Given the description of an element on the screen output the (x, y) to click on. 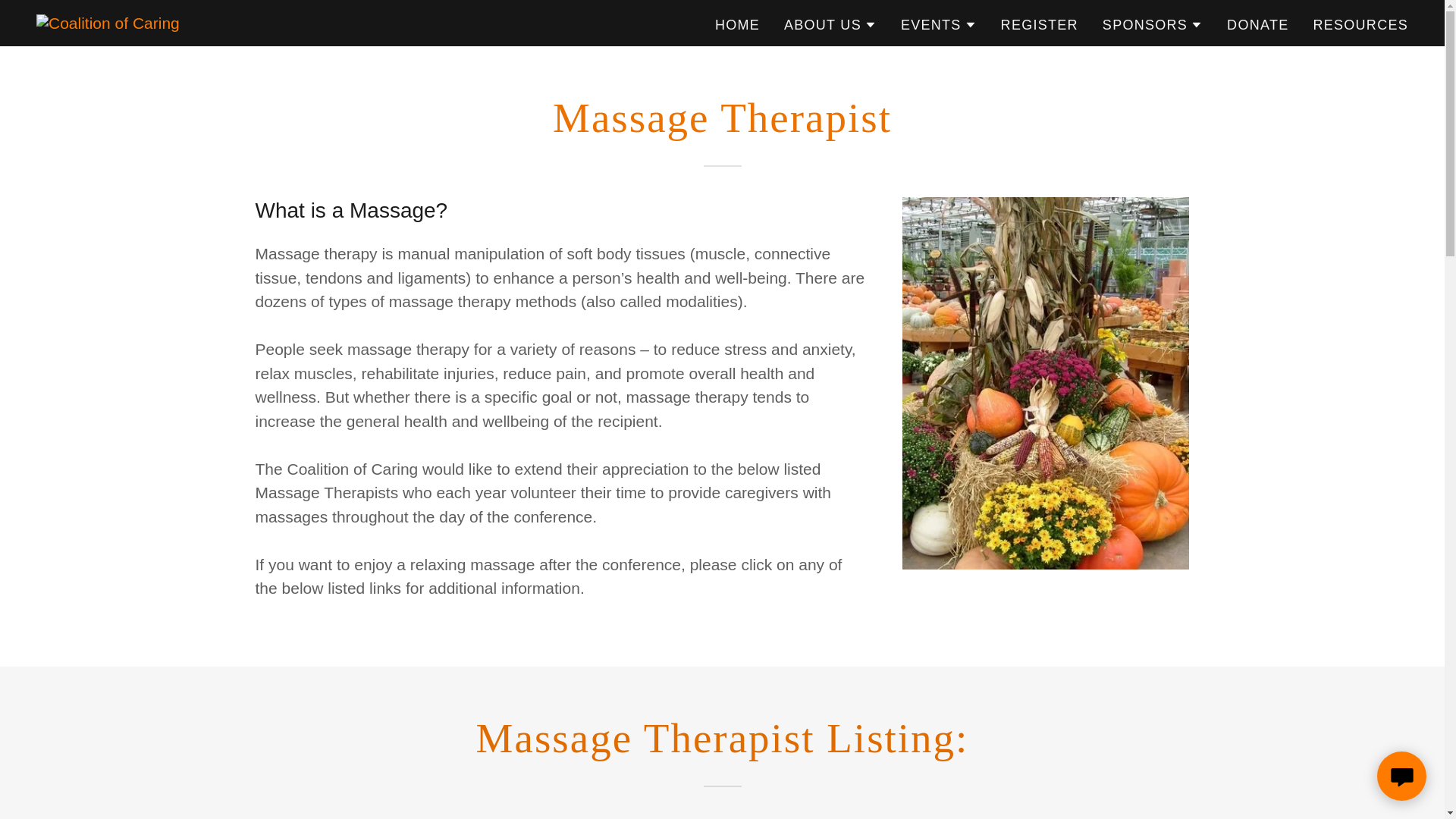
DONATE (1257, 24)
EVENTS (938, 24)
ABOUT US (830, 24)
REGISTER (1039, 24)
RESOURCES (1359, 24)
Coalition of Caring (107, 22)
HOME (737, 24)
SPONSORS (1152, 24)
